Given the description of an element on the screen output the (x, y) to click on. 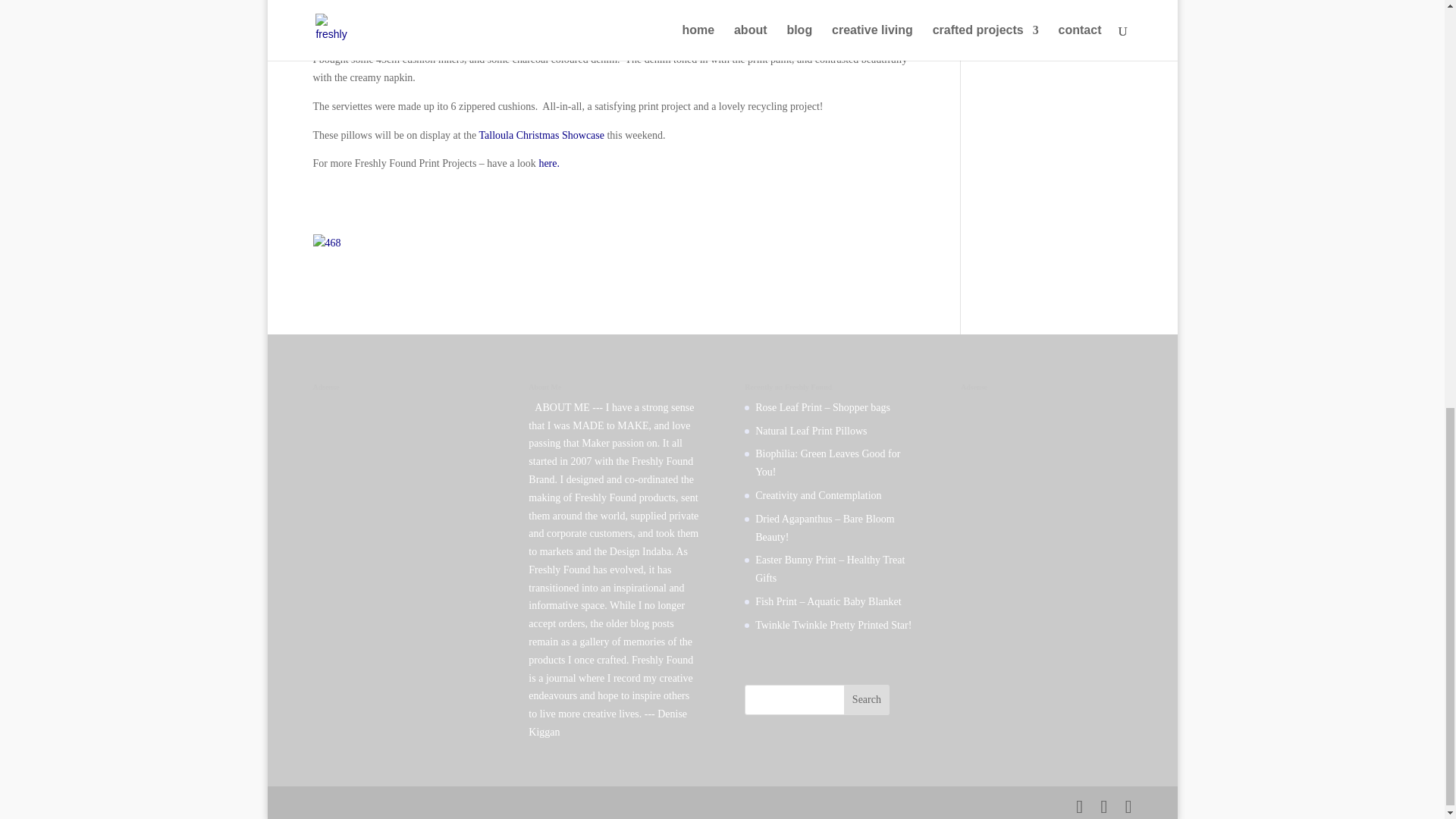
here. (548, 163)
Talloula Christmas Showcase (541, 134)
Creativity and Contemplation (817, 495)
Biophilia: Green Leaves Good for You! (827, 462)
Natural Leaf Print Pillows (810, 430)
Search (866, 699)
Search (866, 699)
Twinkle Twinkle Pretty Printed Star! (833, 624)
